Given the description of an element on the screen output the (x, y) to click on. 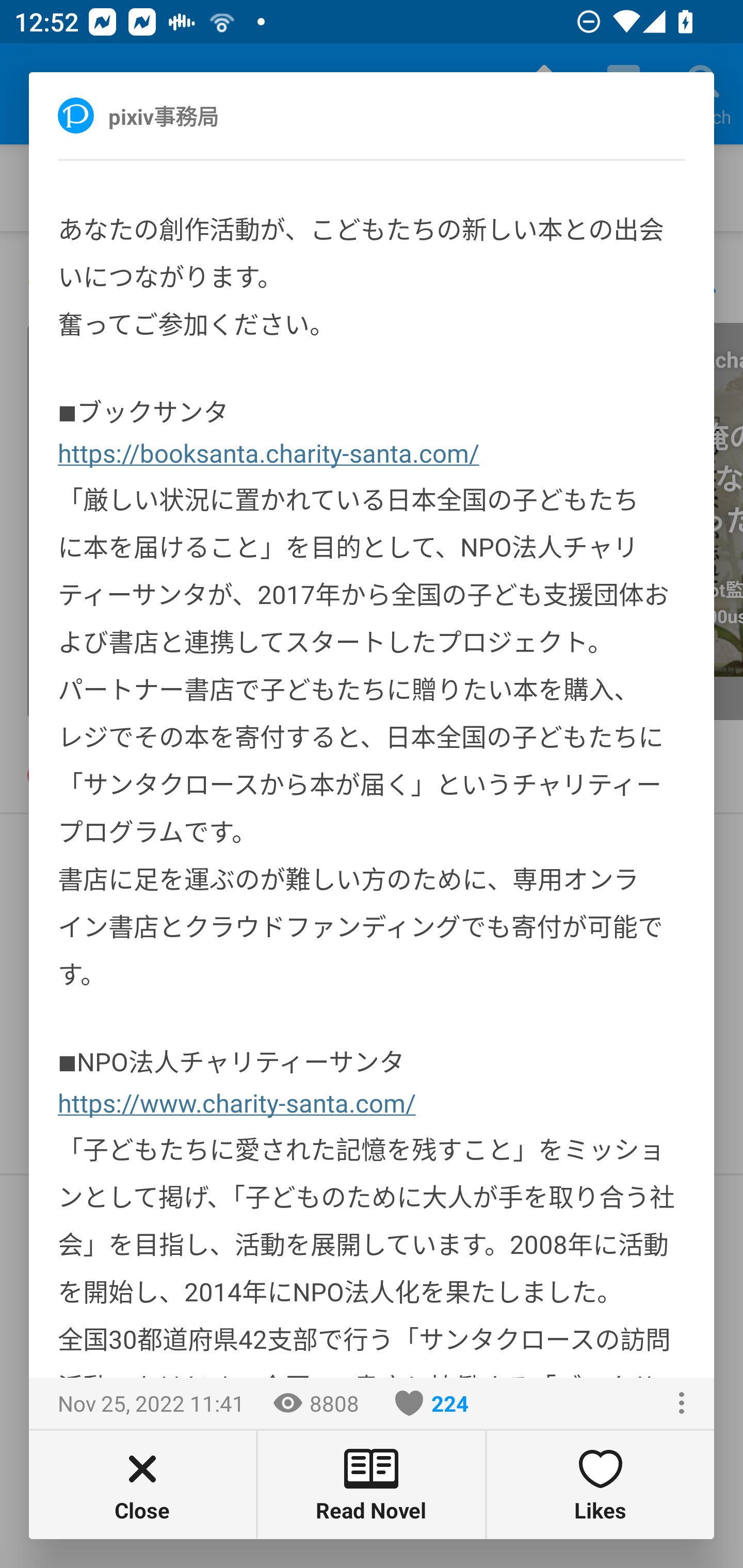
pixiv事務局 (184, 115)
224 (431, 1403)
Close (141, 1484)
Read Novel (371, 1484)
